Given the description of an element on the screen output the (x, y) to click on. 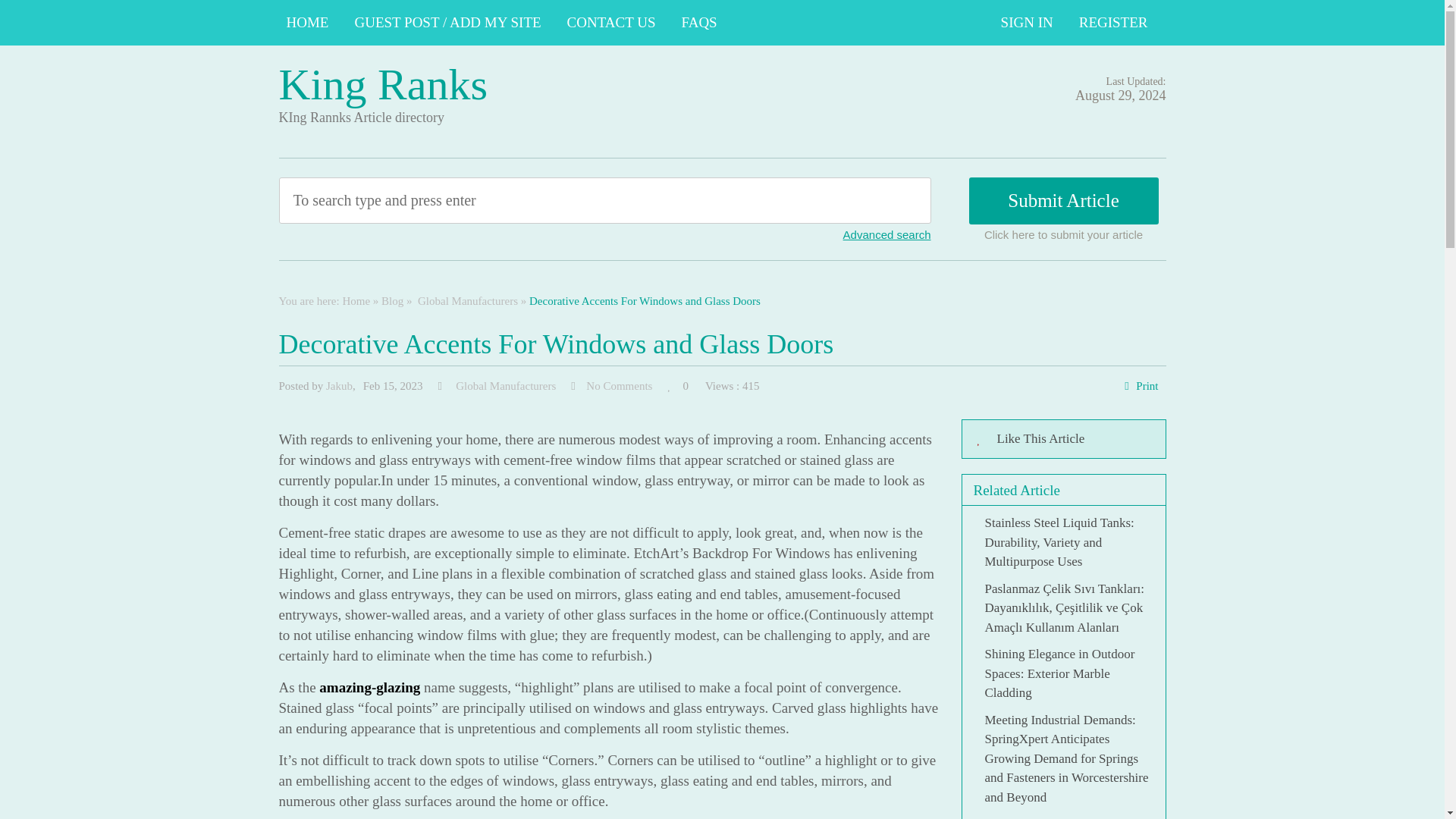
King Ranks (383, 83)
CONTACT US (611, 22)
SIGN IN (1026, 22)
No Comments (619, 386)
Blog (392, 300)
amazing-glazing (369, 687)
 Global Manufacturers (466, 300)
Like This Article (1063, 438)
 Global Manufacturers (504, 386)
